Given the description of an element on the screen output the (x, y) to click on. 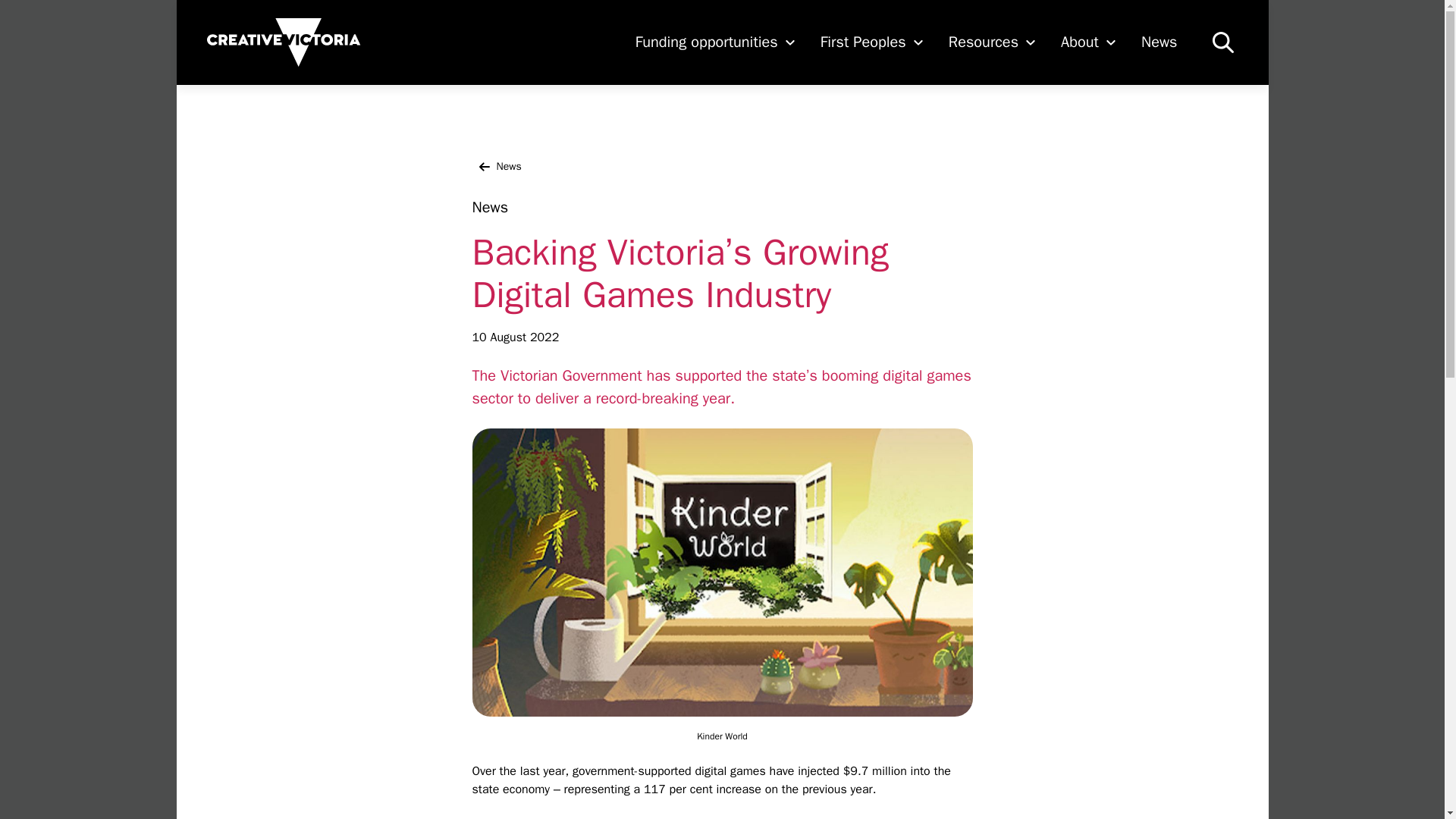
News (1159, 42)
First Peoples (872, 42)
News (496, 166)
Funding opportunities (715, 42)
About (1088, 42)
Open site search (1222, 42)
Resources (992, 42)
